Given the description of an element on the screen output the (x, y) to click on. 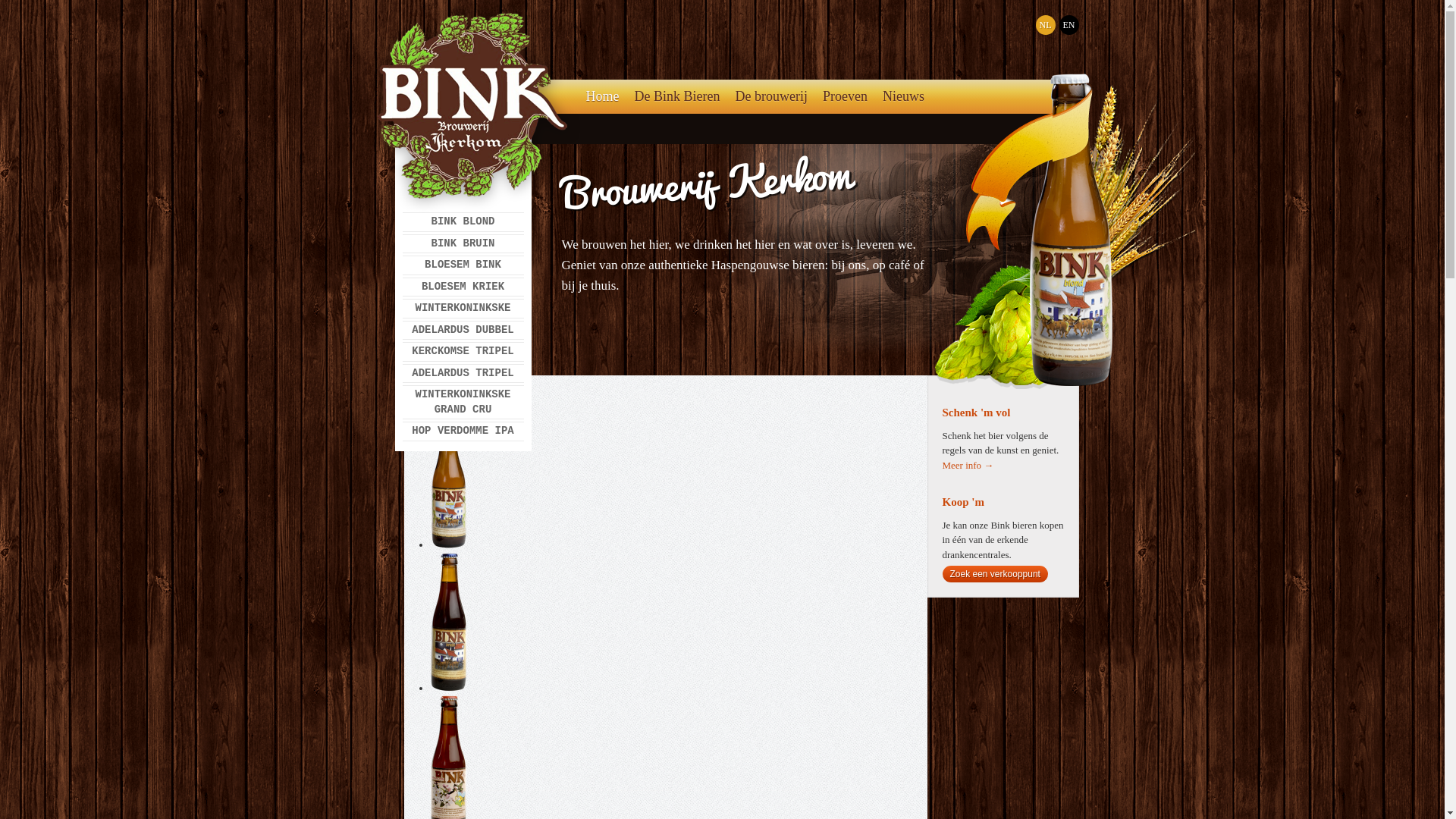
BLOESEM BINK Element type: text (462, 265)
ADELARDUS TRIPEL Element type: text (462, 372)
De brouwerij Element type: text (770, 96)
  Element type: text (589, 128)
EN Element type: text (1068, 24)
NL Element type: text (1045, 24)
Proeven Element type: text (845, 96)
KERCKOMSE TRIPEL Element type: text (462, 351)
WINTERKONINKSKE GRAND CRU Element type: text (462, 402)
Home Element type: text (601, 96)
ADELARDUS DUBBEL Element type: text (462, 330)
BLOESEM KRIEK Element type: text (462, 286)
HOP VERDOMME IPA Element type: text (462, 431)
Nieuws Element type: text (903, 96)
De Bink Bieren Element type: text (676, 96)
BINK BLOND Element type: text (462, 221)
Schenk 'm vol Element type: text (975, 412)
Koop 'm Element type: text (962, 501)
WINTERKONINKSKE Element type: text (462, 308)
BINK BRUIN Element type: text (462, 243)
Zoek een verkooppunt Element type: text (994, 573)
